Given the description of an element on the screen output the (x, y) to click on. 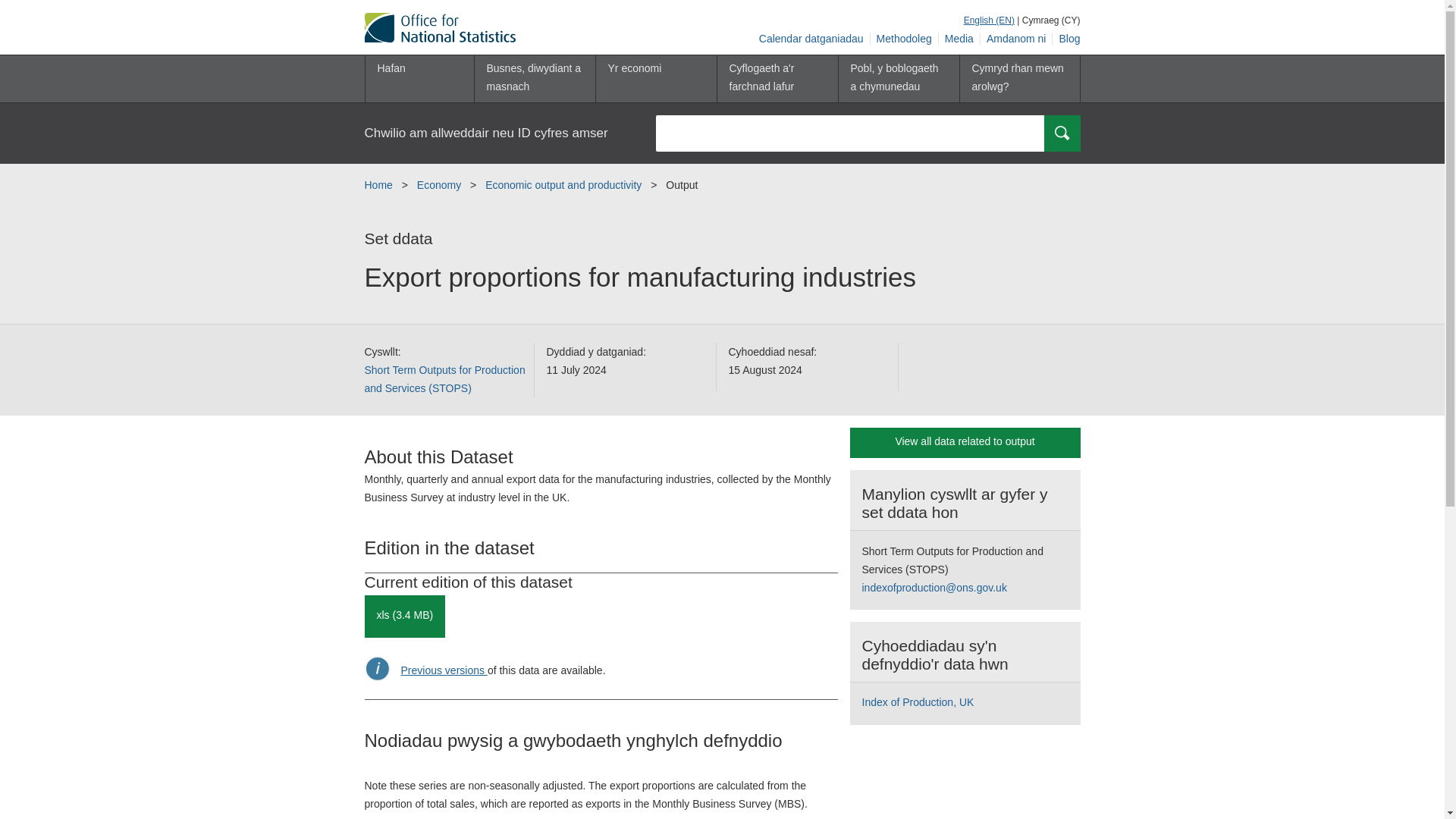
Amdanom ni (1015, 38)
Blog (1066, 38)
Hafan (418, 78)
Busnes, diwydiant a masnach (533, 78)
Yr economi (655, 78)
Methodoleg (904, 38)
Calendar datganiadau (811, 38)
Cyflogaeth a'r farchnad lafur (776, 78)
Media (959, 38)
Pobl, y boblogaeth a chymunedau (897, 78)
